Given the description of an element on the screen output the (x, y) to click on. 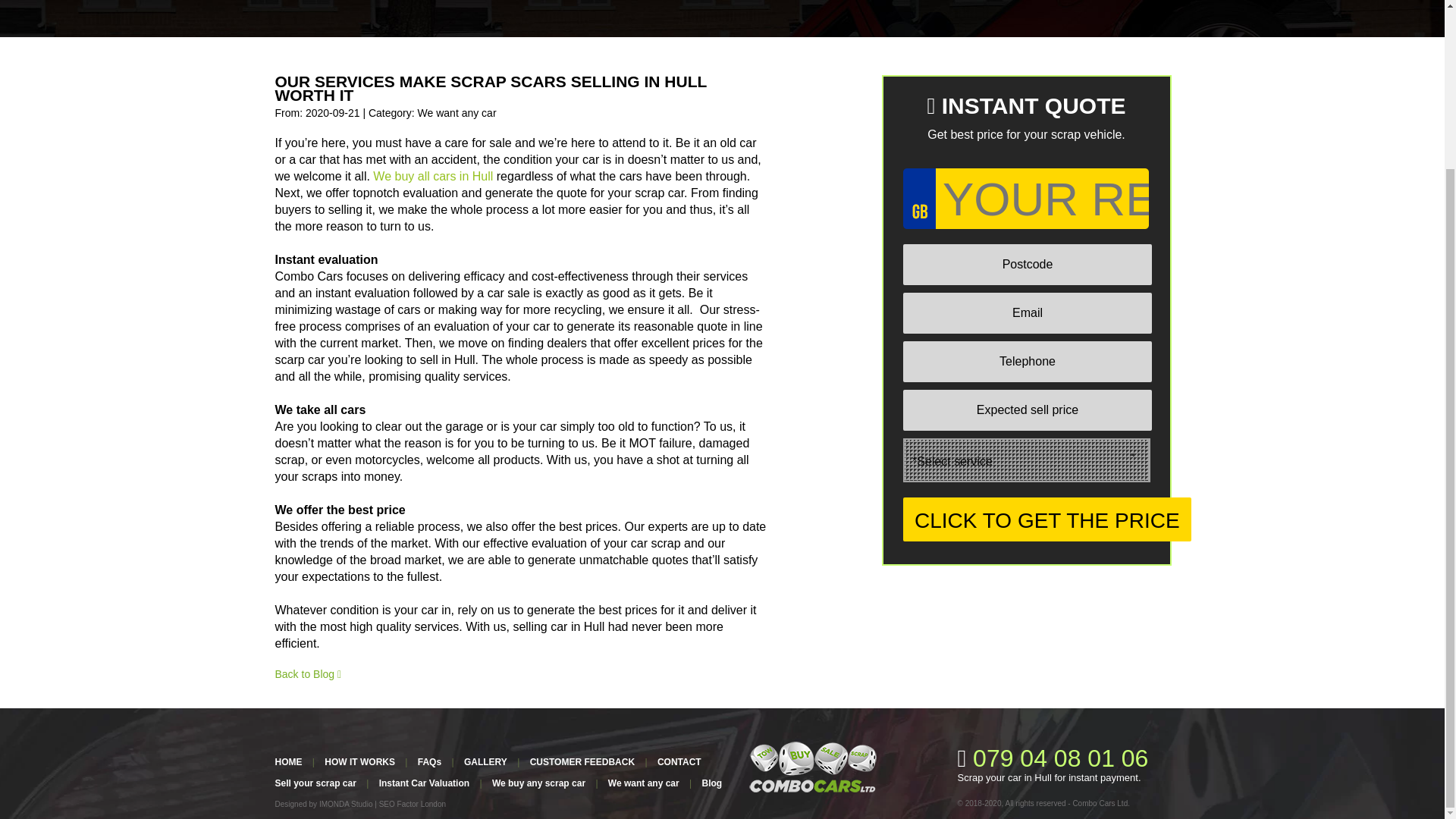
IMONDA Studio (345, 804)
FAQs (429, 761)
Sell your scrap car (315, 783)
We want any car (643, 783)
Back to Blog (307, 674)
CUSTOMER FEEDBACK (581, 761)
Blog (711, 783)
HOW IT WORKS (359, 761)
CONTACT (679, 761)
Instant Car Valuation (423, 783)
SEO Factor London (411, 804)
We buy all cars in Hull (432, 175)
HOME (288, 761)
GALLERY (485, 761)
click to get the price (1046, 519)
